Given the description of an element on the screen output the (x, y) to click on. 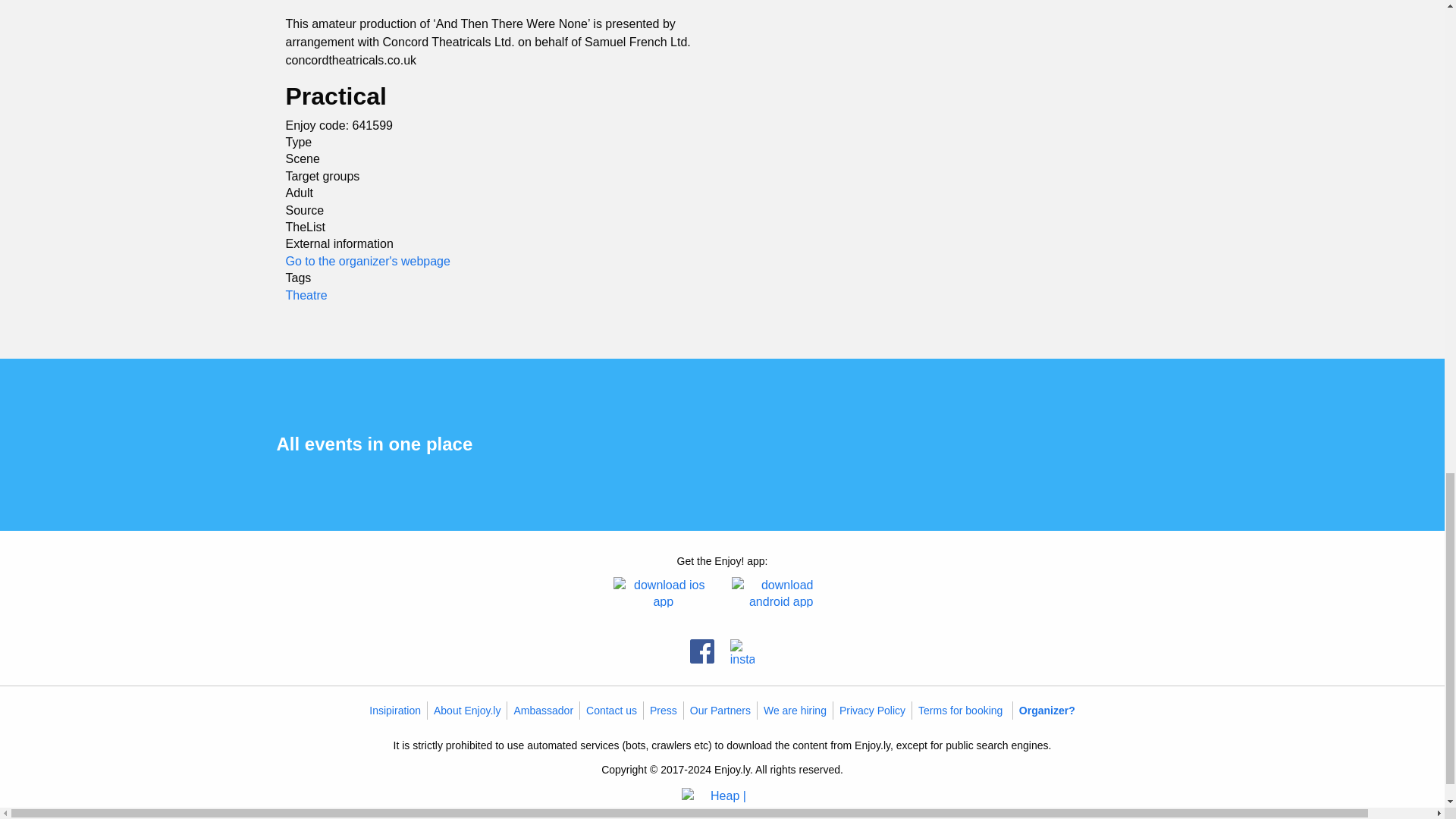
Theatre (305, 294)
Go to the organizer's webpage (367, 260)
Terms for booking (960, 710)
Organizer? (1047, 710)
Contact us (611, 710)
We are hiring (794, 710)
Our Partners (720, 710)
Activities tagged withTheatre (305, 294)
Privacy Policy (872, 710)
Press (663, 710)
Insipiration (394, 710)
Ambassador (543, 710)
About Enjoy.ly (466, 710)
